Given the description of an element on the screen output the (x, y) to click on. 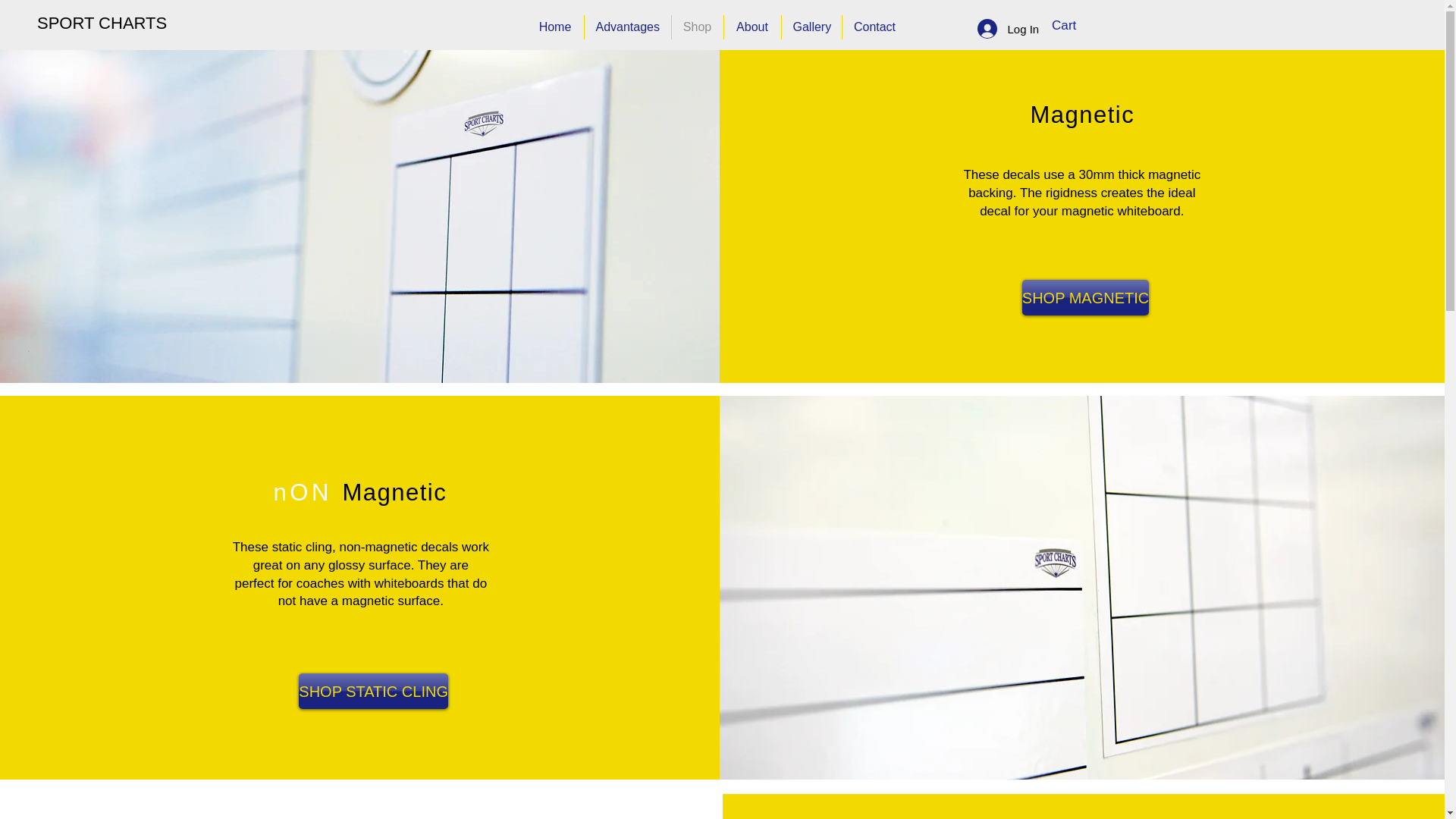
About (751, 27)
Cart (1072, 24)
Home (554, 27)
Cart (1072, 24)
Advantages (626, 27)
Gallery (810, 27)
Contact (874, 27)
SPORT CHARTS (102, 23)
Log In (996, 28)
SHOP MAGNETIC (1085, 297)
SHOP STATIC CLING (373, 691)
Shop (697, 27)
